Given the description of an element on the screen output the (x, y) to click on. 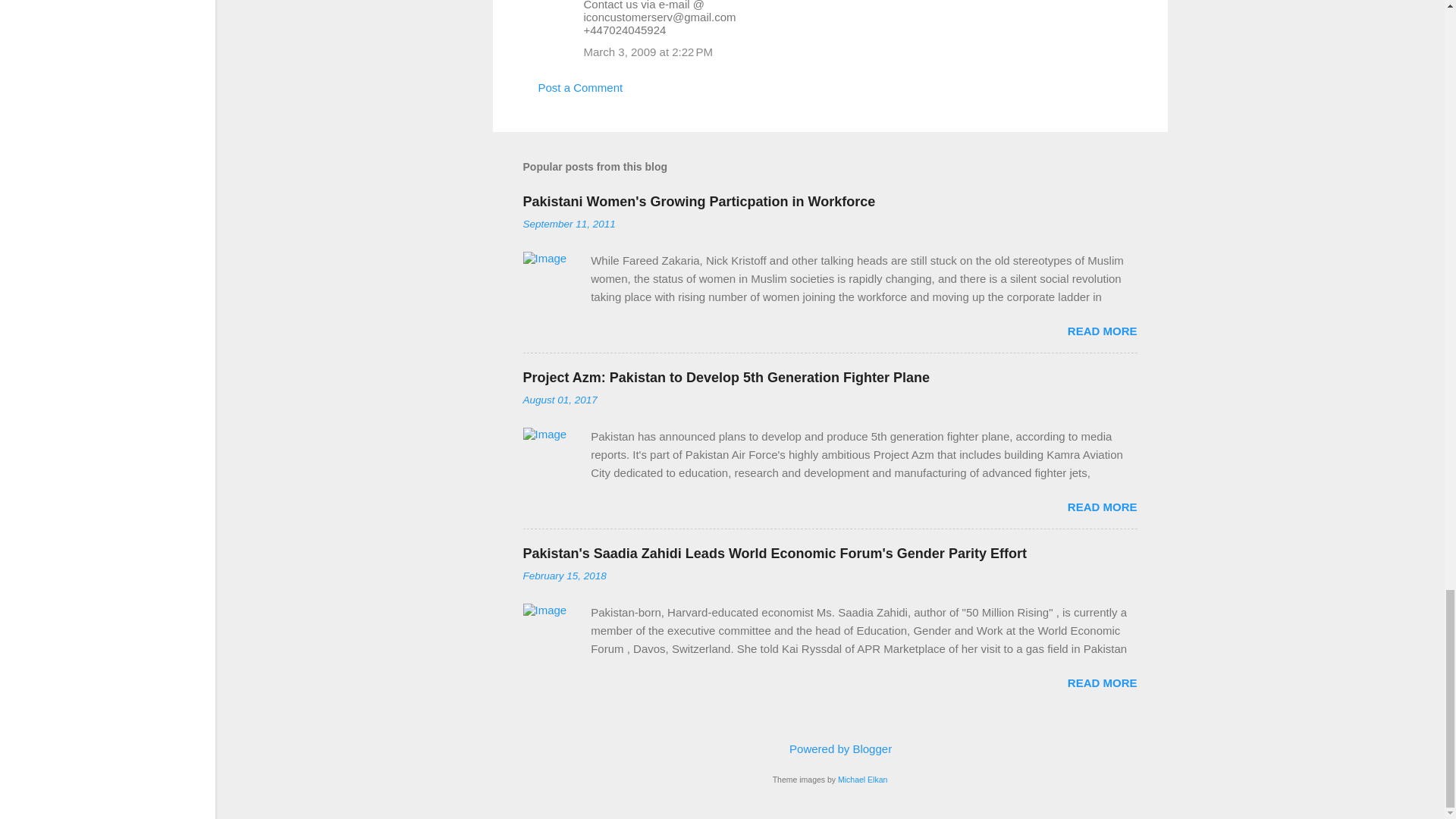
comment permalink (648, 51)
